Given the description of an element on the screen output the (x, y) to click on. 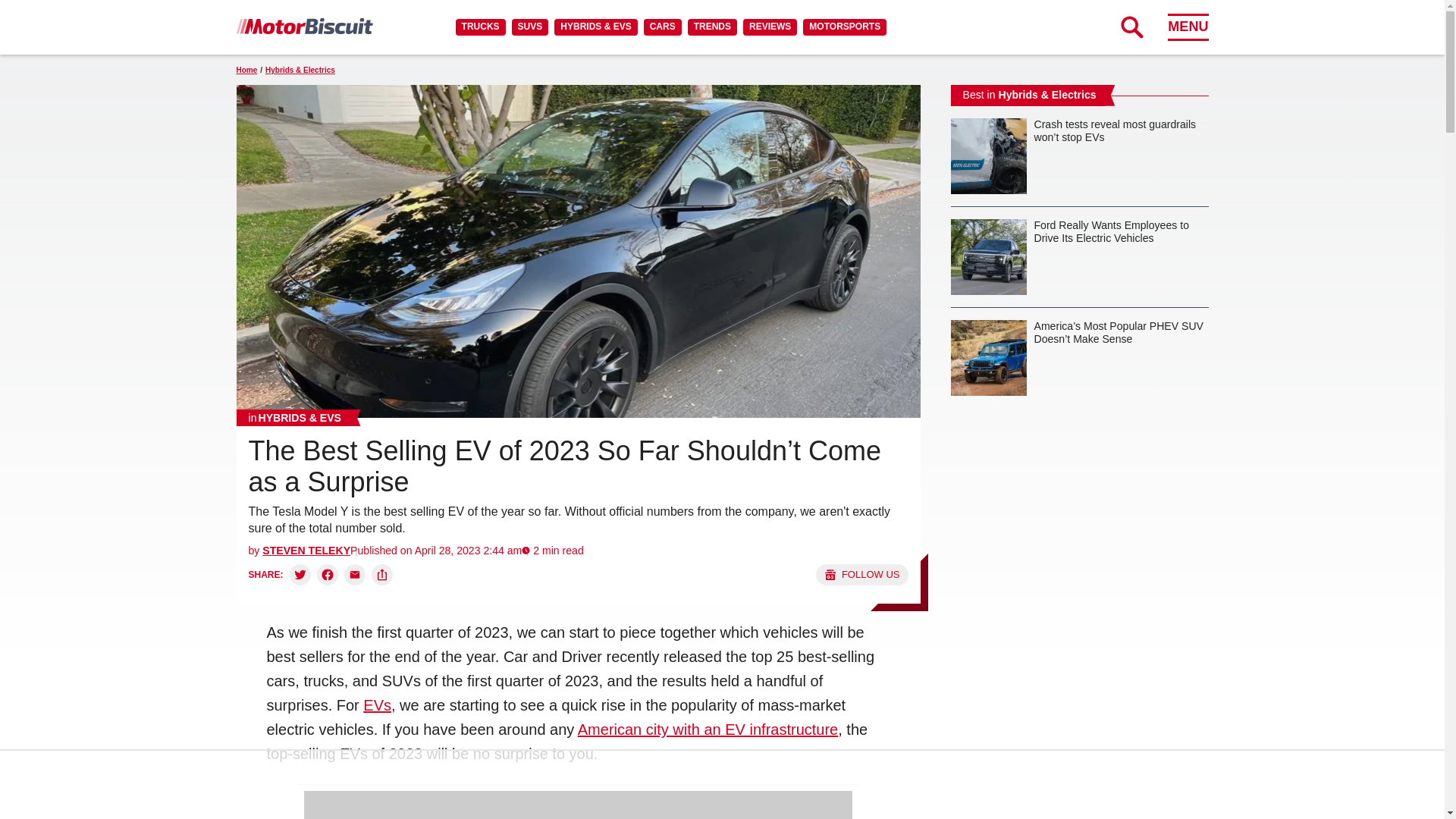
MENU (1187, 26)
CARS (662, 26)
TRENDS (711, 26)
REVIEWS (769, 26)
SUVS (530, 26)
Expand Search (1131, 26)
MOTORSPORTS (844, 26)
Follow us on Google News (861, 574)
TRUCKS (480, 26)
Copy link and share:  (382, 574)
MotorBiscuit (303, 26)
